Given the description of an element on the screen output the (x, y) to click on. 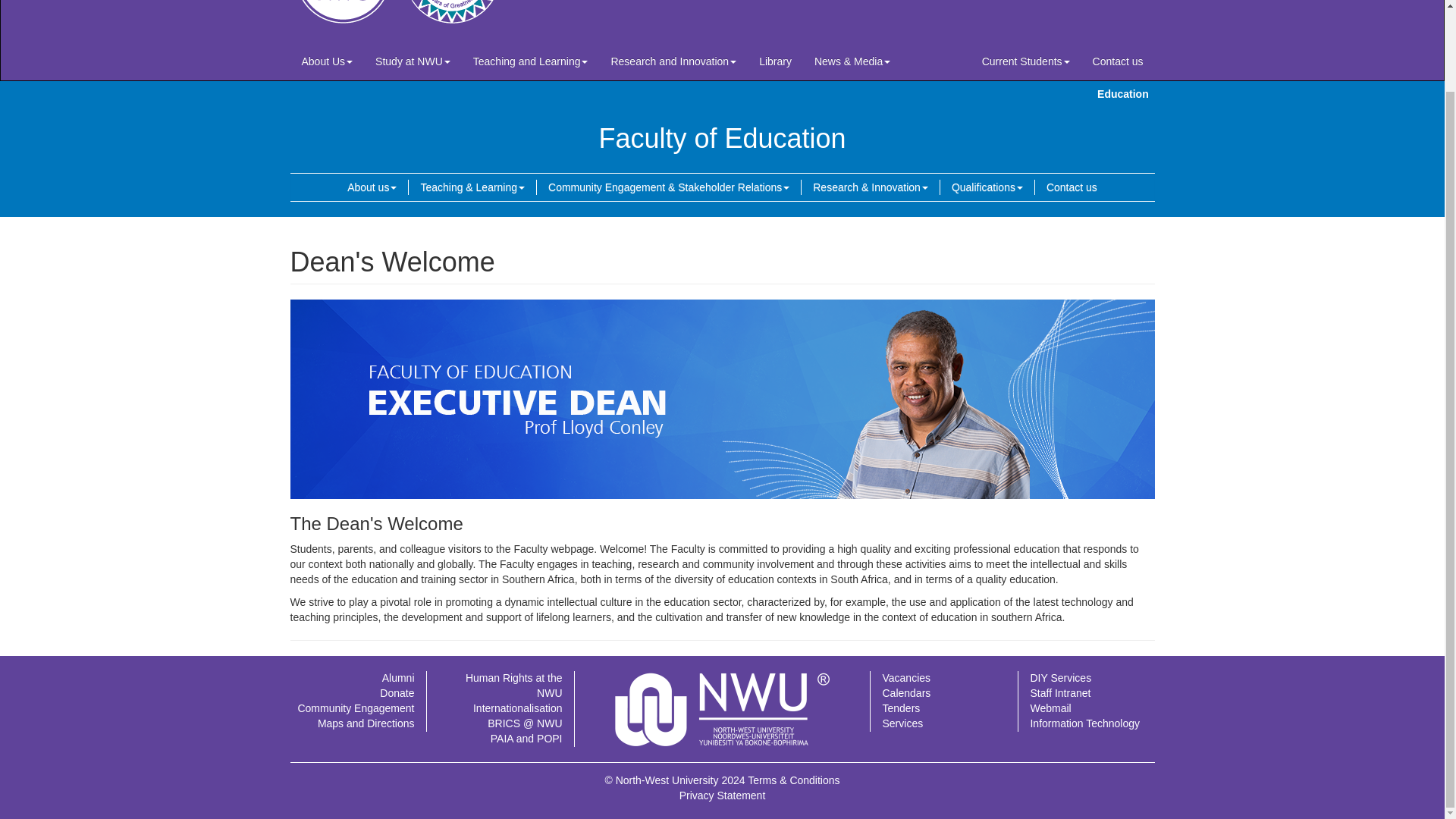
Study at NWU (412, 61)
About Us (326, 61)
Teaching and Learning (530, 61)
Webmail (1049, 707)
Home (409, 18)
